Given the description of an element on the screen output the (x, y) to click on. 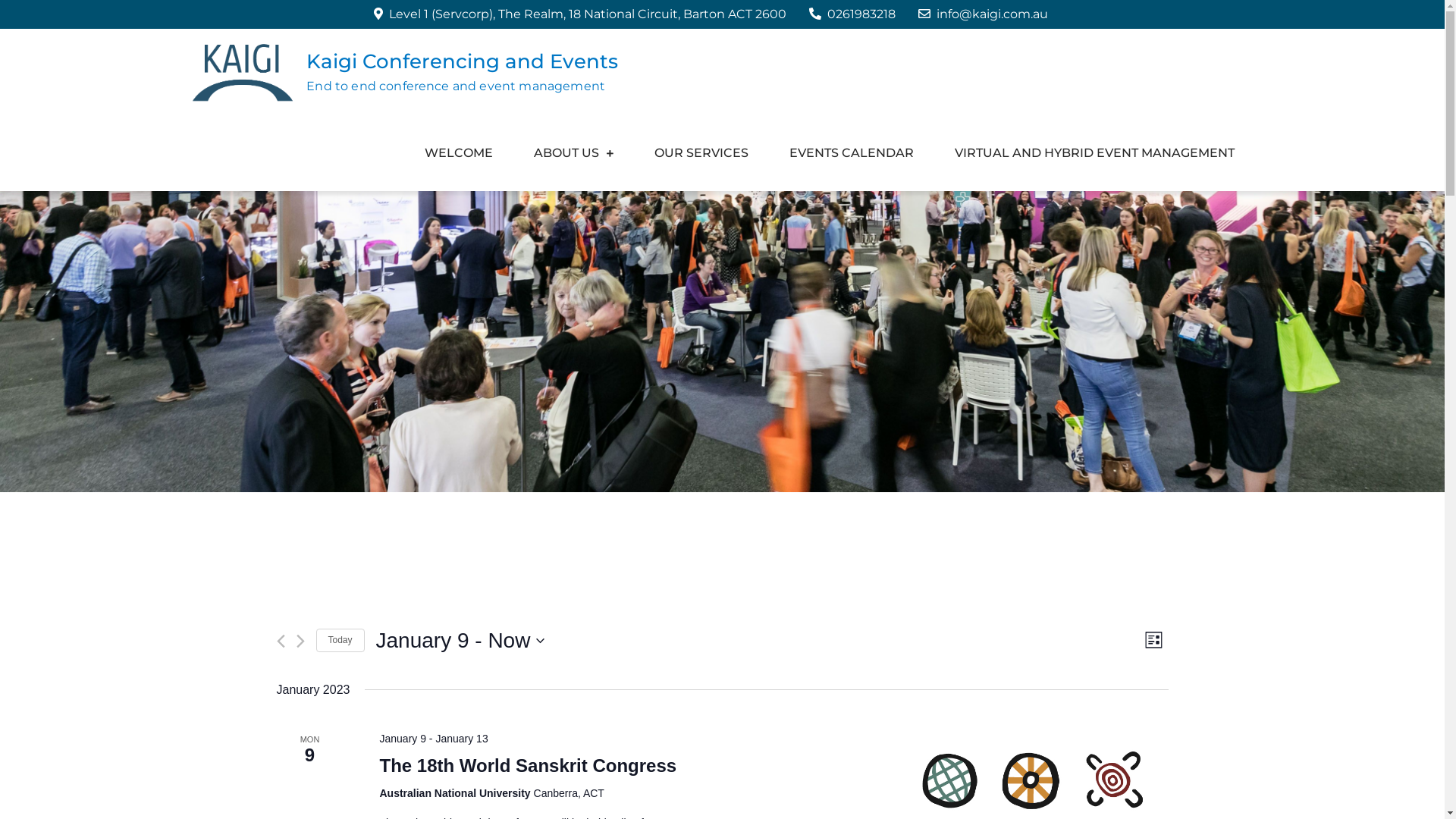
0261983218 Element type: text (852, 13)
WELCOME Element type: text (457, 153)
Next Events Element type: hover (299, 640)
info@kaigi.com.au Element type: text (983, 13)
Kaigi Conferencing and Events Element type: text (462, 61)
ABOUT US Element type: text (572, 153)
List Element type: text (1153, 640)
EVENTS CALENDAR Element type: text (851, 153)
Previous Events Element type: hover (280, 640)
The 18th World Sanskrit Congress Element type: text (527, 765)
Today Element type: text (339, 640)
OUR SERVICES Element type: text (701, 153)
VIRTUAL AND HYBRID EVENT MANAGEMENT Element type: text (1094, 153)
January 9
 - 
Now Element type: text (460, 640)
